Given the description of an element on the screen output the (x, y) to click on. 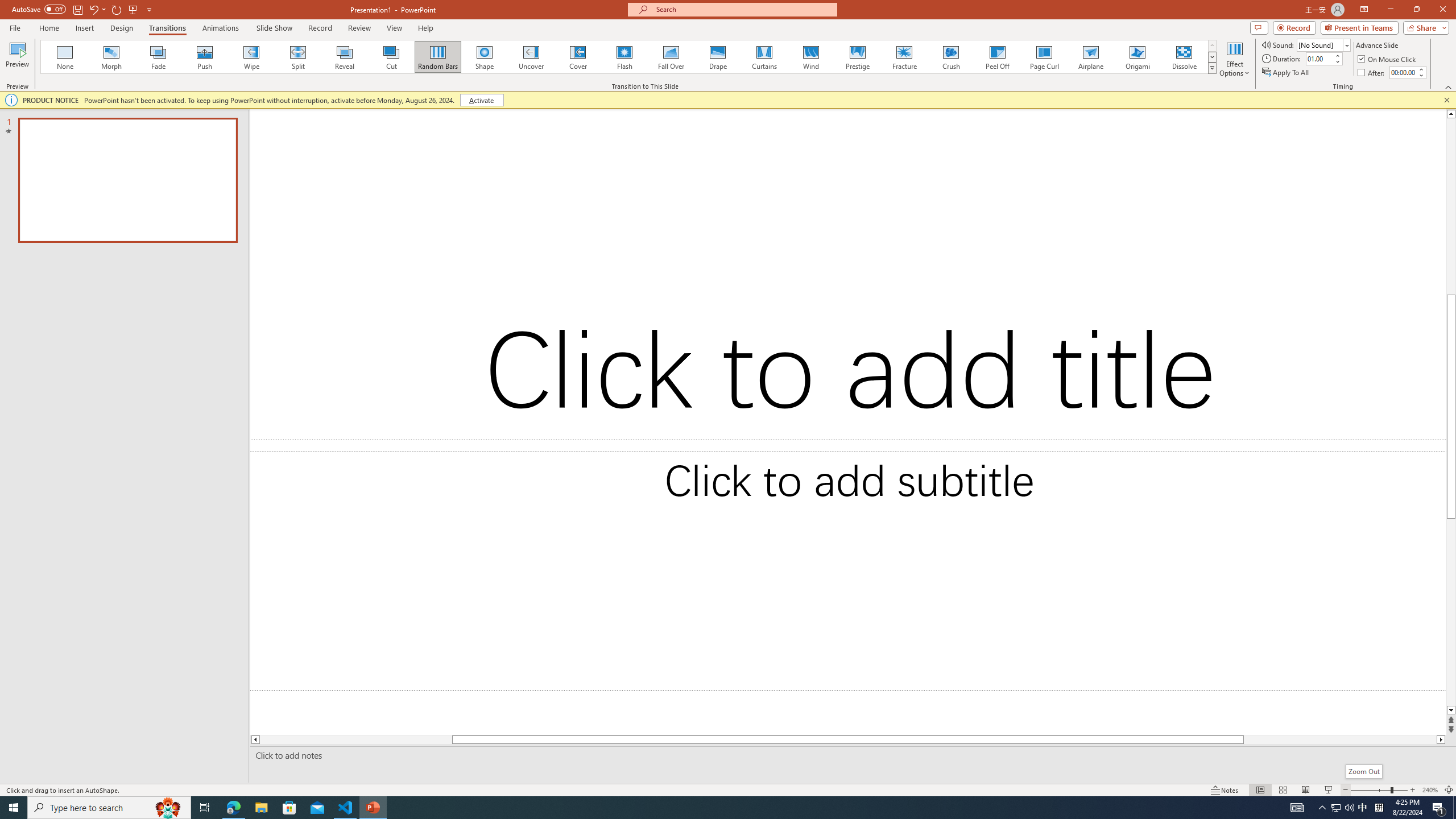
After (1403, 72)
Apply To All (1286, 72)
Wipe (251, 56)
Activate (481, 100)
Origami (1136, 56)
None (65, 56)
Uncover (531, 56)
Duration (1319, 58)
Curtains (764, 56)
Airplane (1090, 56)
